Given the description of an element on the screen output the (x, y) to click on. 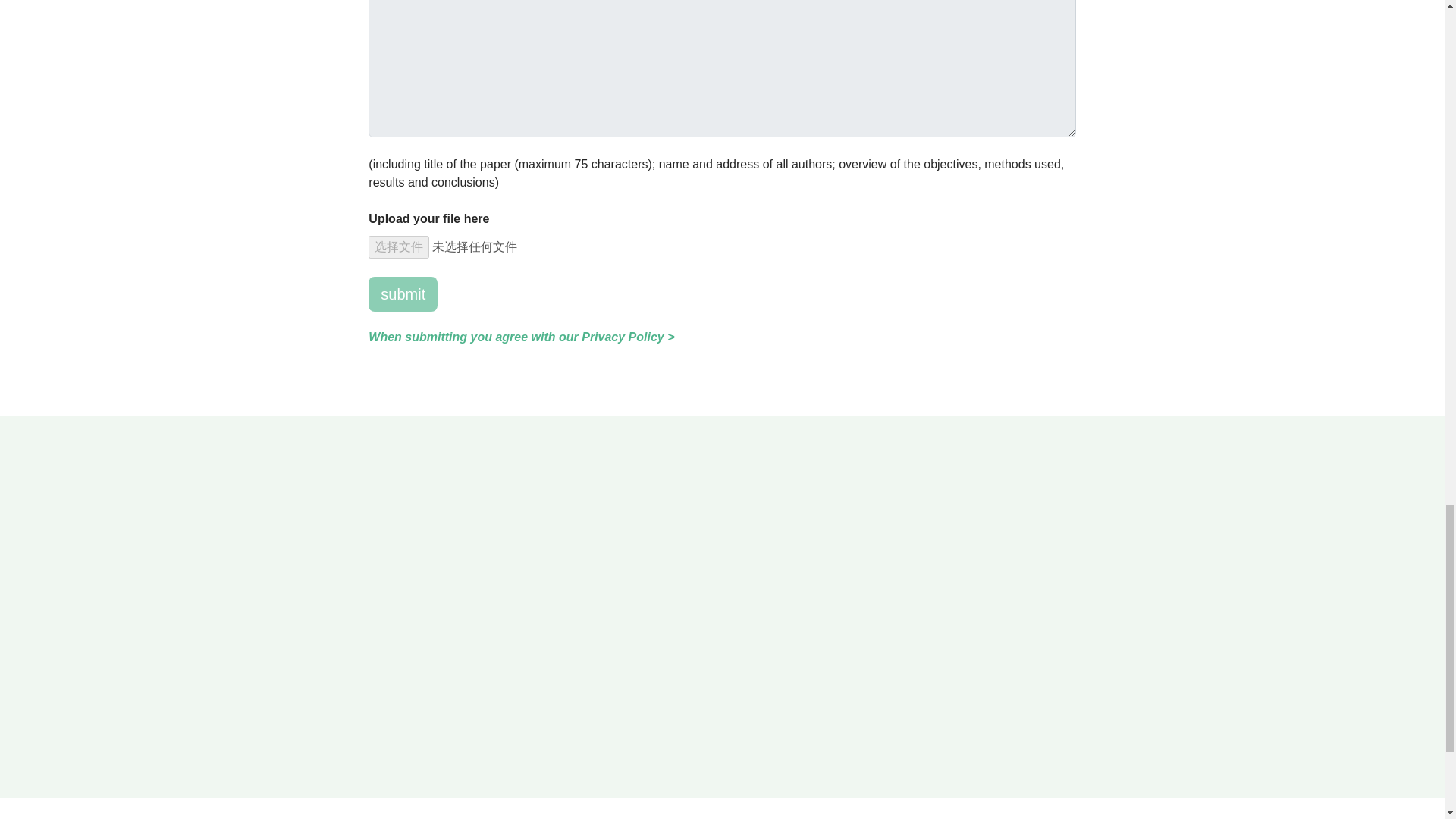
submit (403, 294)
submit (403, 294)
